Given the description of an element on the screen output the (x, y) to click on. 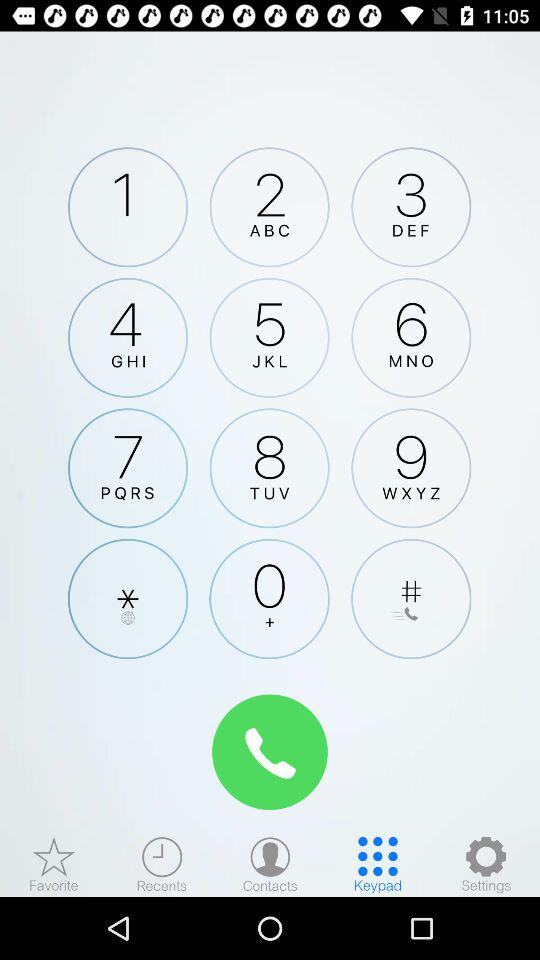
enter 7 (127, 468)
